Given the description of an element on the screen output the (x, y) to click on. 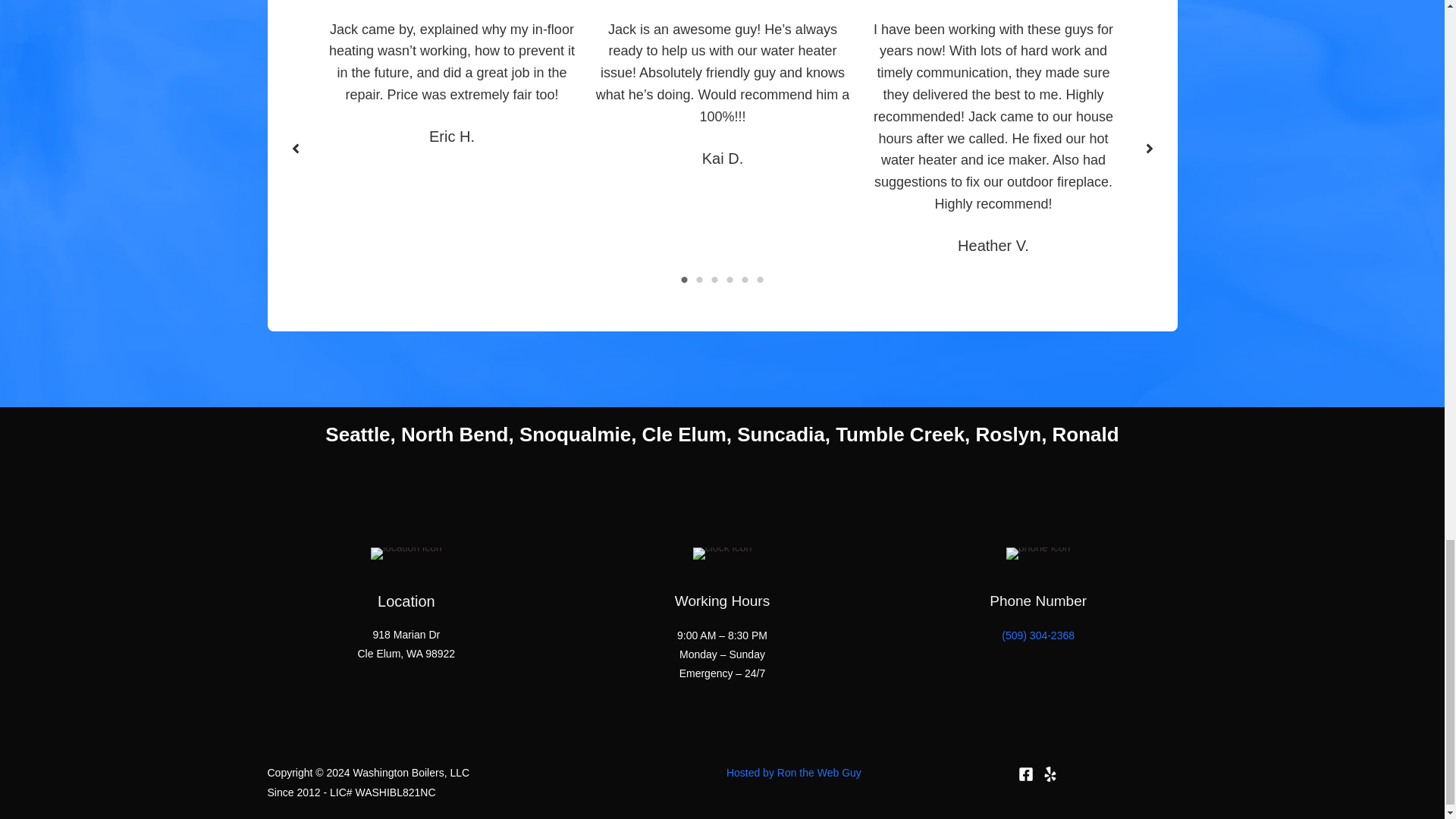
3 (714, 279)
Hosted by Ron the Web Guy (793, 772)
2 (698, 279)
6 (759, 279)
5 (744, 279)
1 (684, 279)
4 (729, 279)
